Given the description of an element on the screen output the (x, y) to click on. 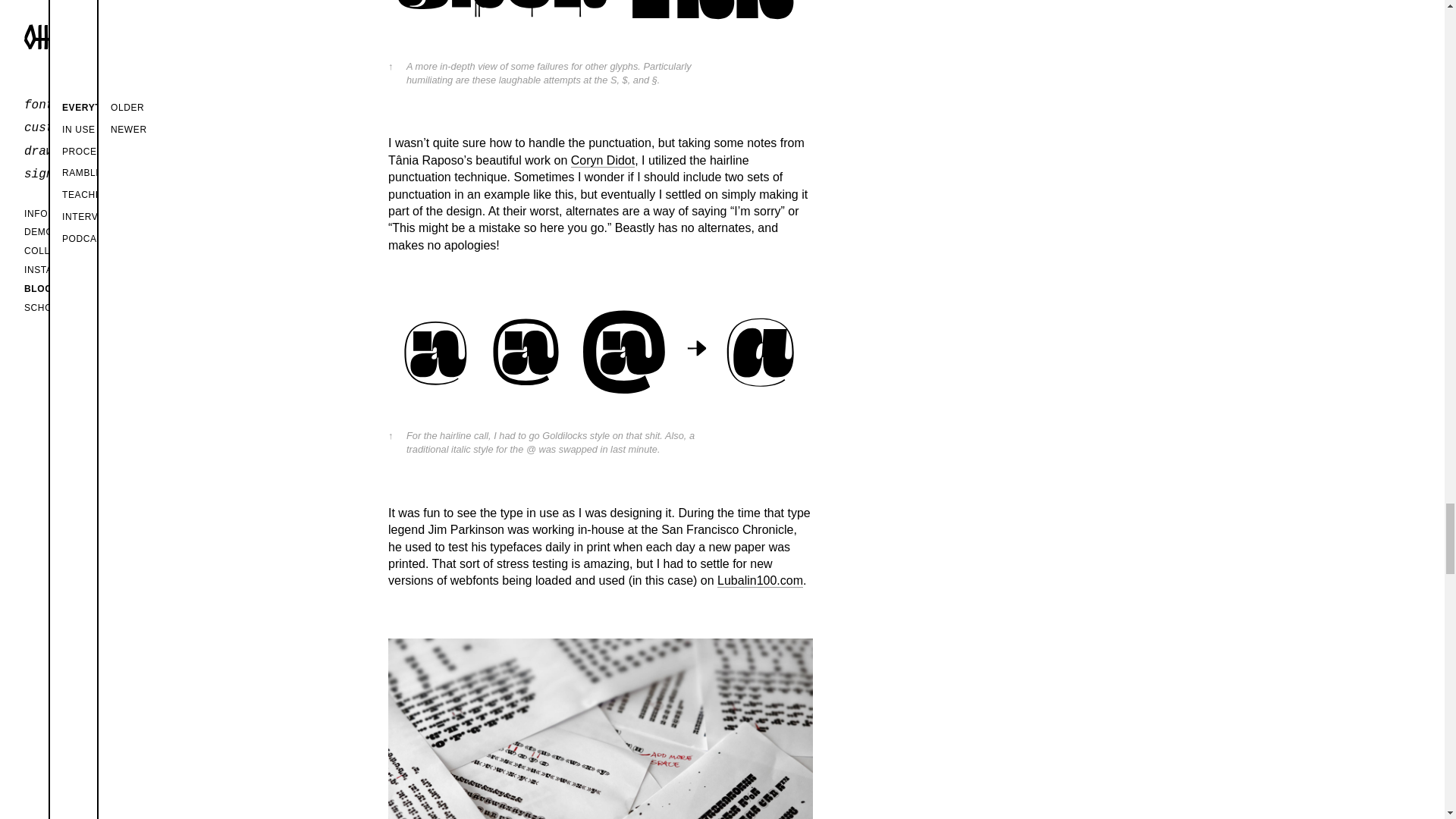
Coryn Didot (602, 160)
Lubalin100.com (760, 581)
